Given the description of an element on the screen output the (x, y) to click on. 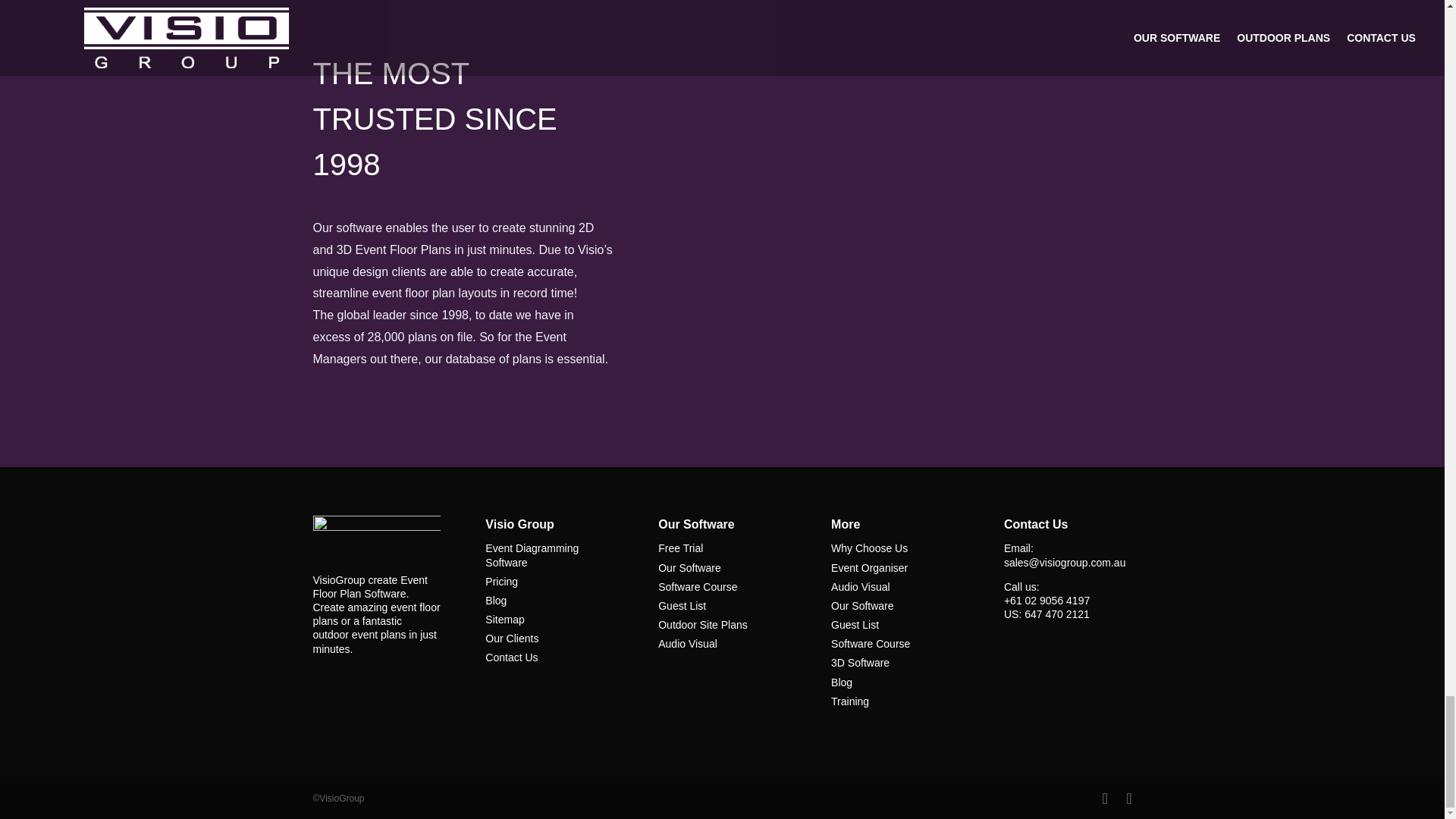
Software Course (870, 644)
Training (850, 701)
Why Choose Us (869, 548)
Blog (841, 682)
Blog (495, 600)
Software Course (697, 586)
3D Software (860, 662)
Guest List (682, 605)
Guest List (855, 624)
Contact Us (510, 657)
